Given the description of an element on the screen output the (x, y) to click on. 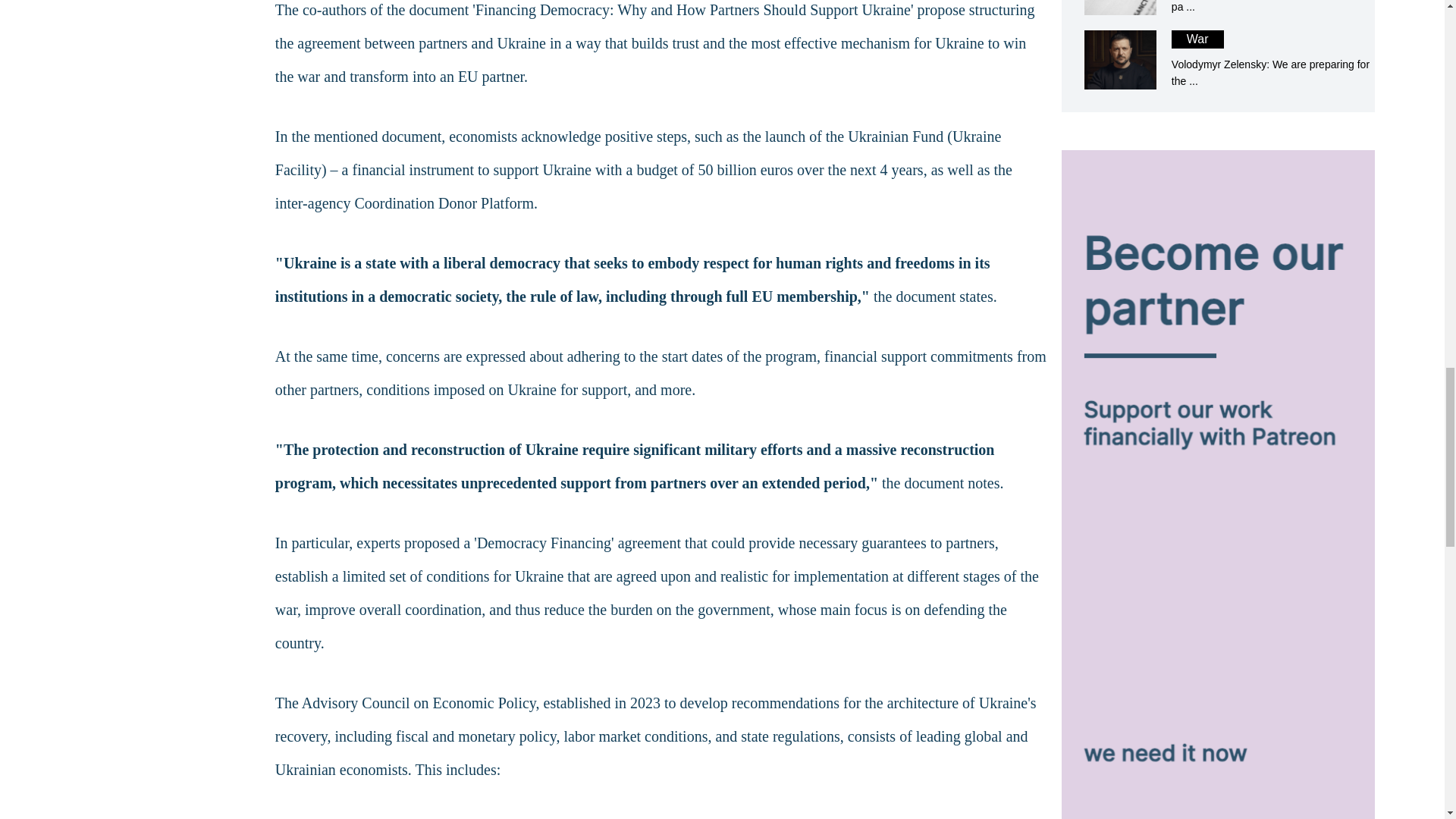
Read (1218, 7)
Read (1218, 59)
